Given the description of an element on the screen output the (x, y) to click on. 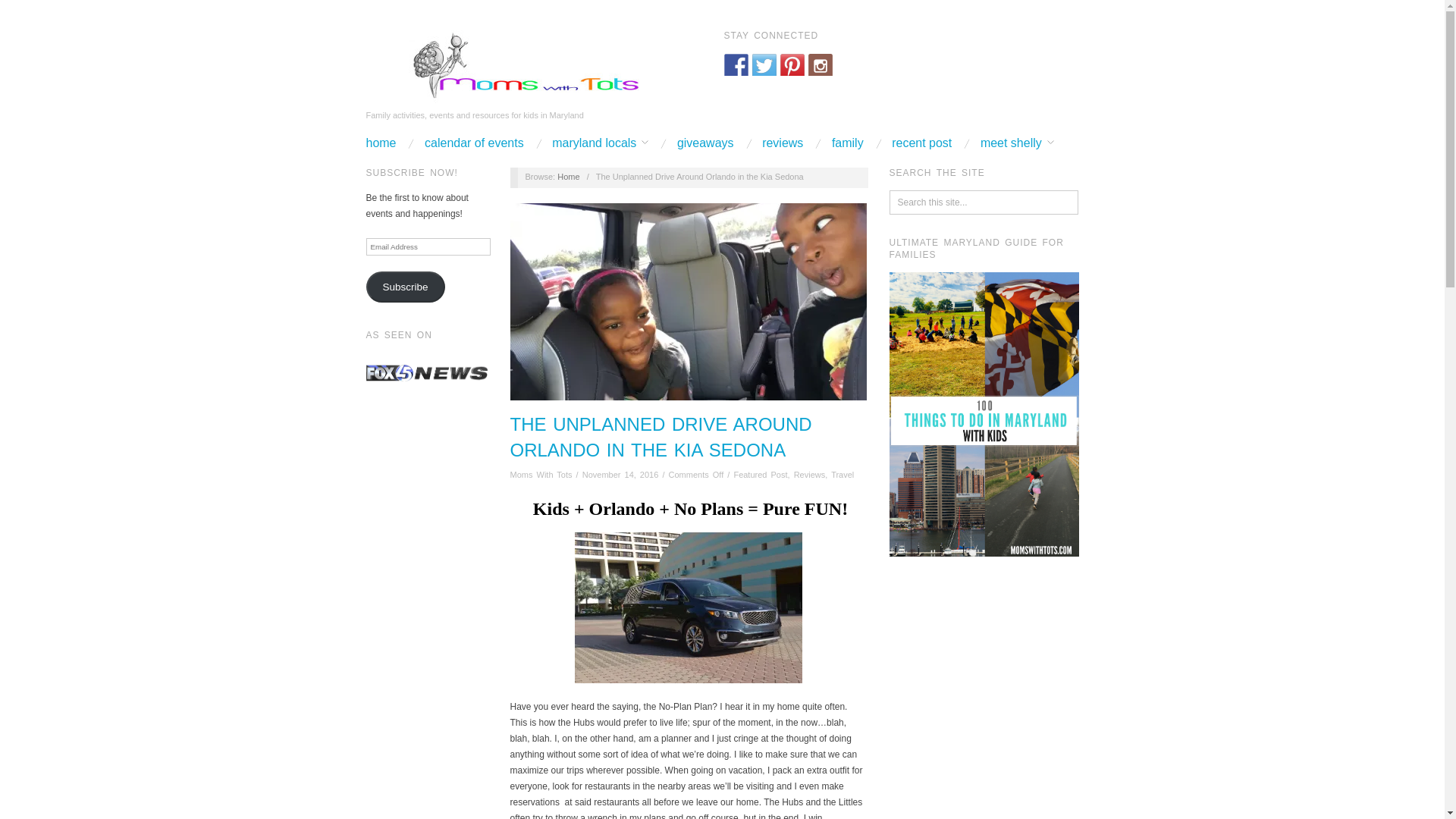
Reviews (809, 474)
Moms With Tots (516, 65)
Search this site... (983, 202)
calendar of events (474, 142)
Follow us on Facebook (735, 65)
Travel (842, 474)
maryland locals (599, 142)
Moms with Tots Home Page (380, 142)
Home (568, 175)
Maryland Calendar of Events for Families (474, 142)
home (380, 142)
giveaways (705, 142)
Maryland Giveaways (705, 142)
Featured Post (760, 474)
Check out our instagram feed (820, 65)
